Given the description of an element on the screen output the (x, y) to click on. 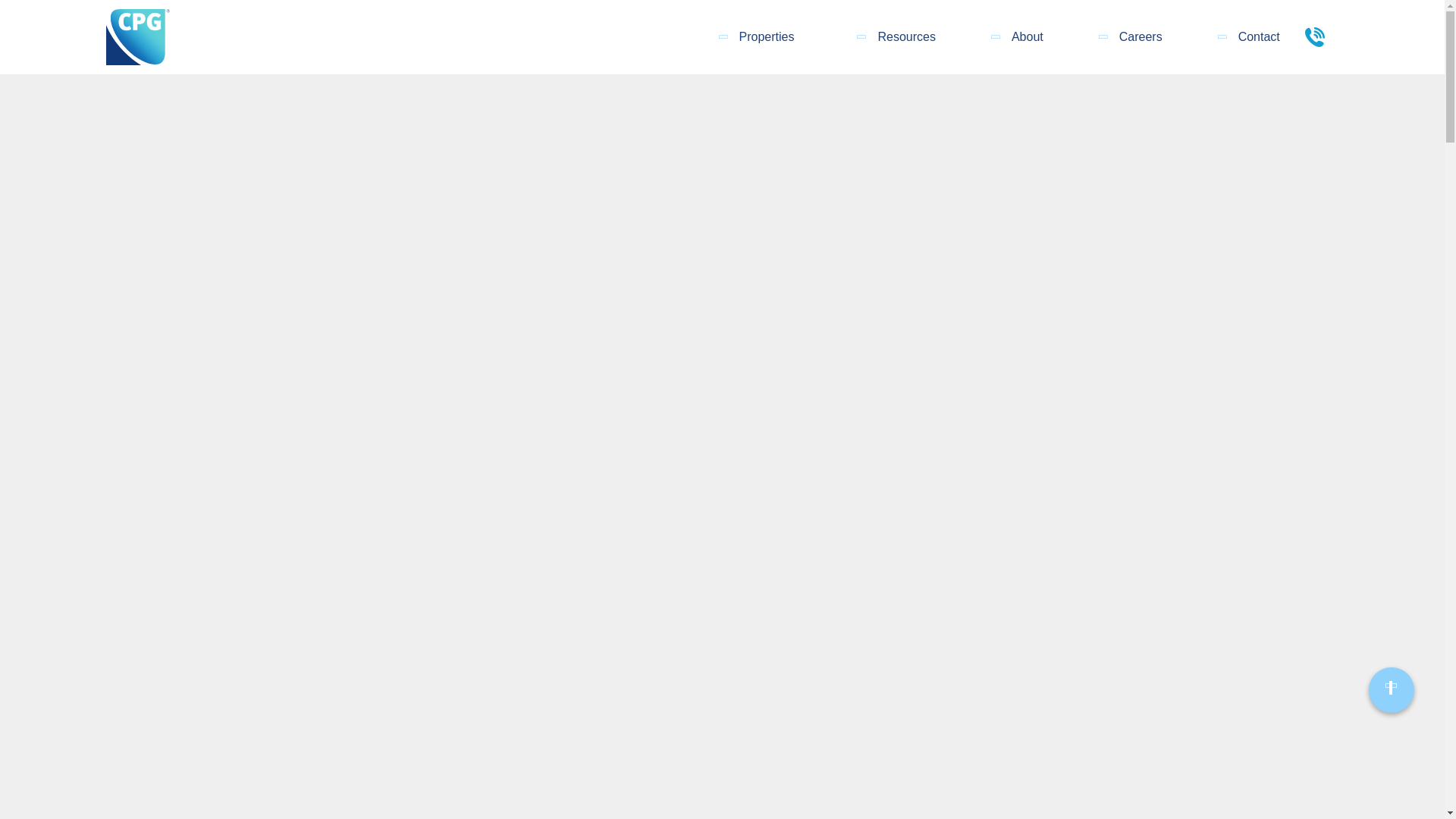
About (1027, 36)
Contact (1259, 36)
Back to top (1390, 689)
Careers (1140, 36)
Properties (766, 36)
Resources (905, 36)
